Given the description of an element on the screen output the (x, y) to click on. 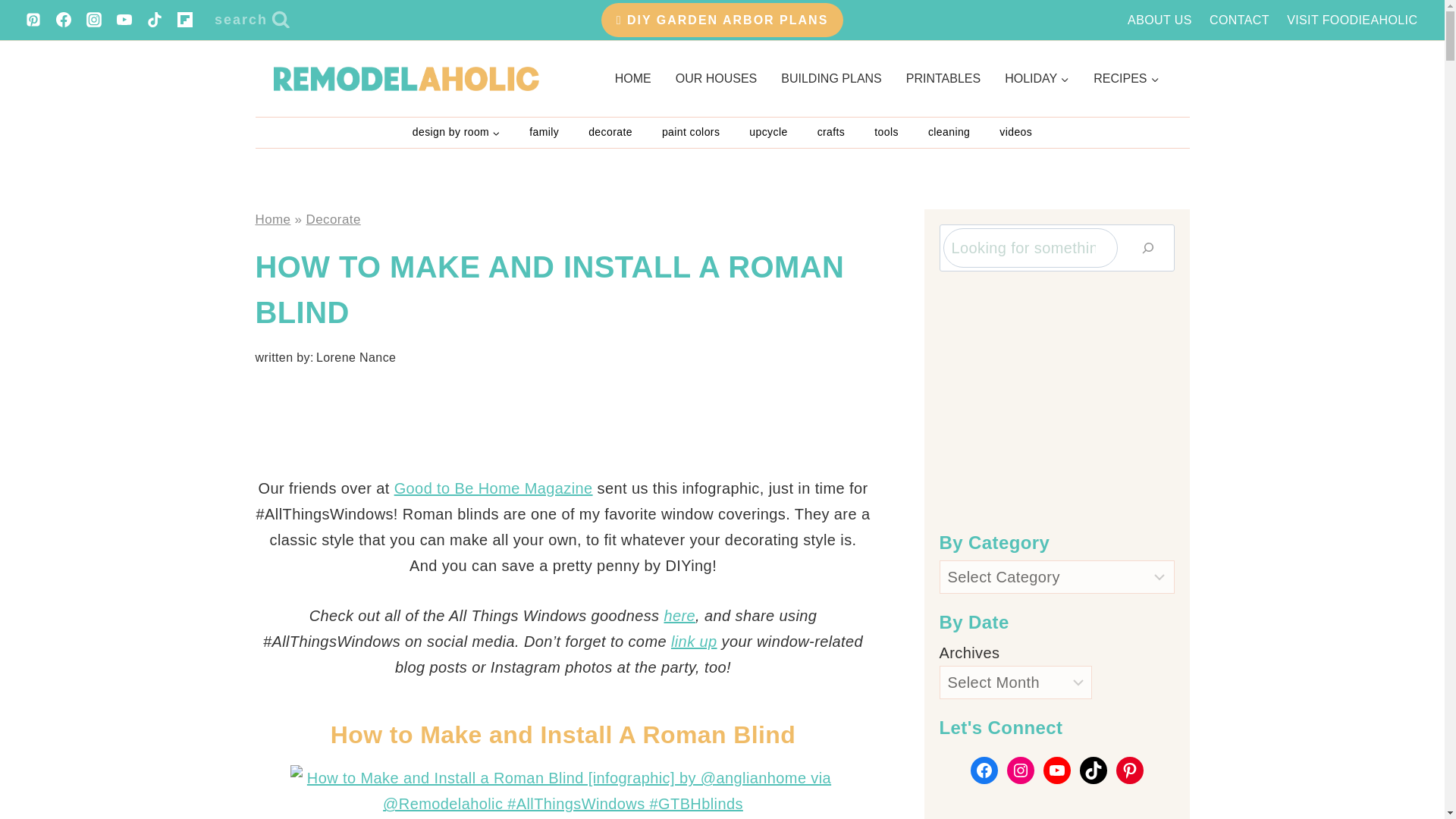
VISIT FOODIEAHOLIC (1352, 19)
HOME (632, 78)
ABOUT US (1160, 19)
HOLIDAY (1036, 78)
RECIPES (1125, 78)
BUILDING PLANS (830, 78)
OUR HOUSES (716, 78)
search (252, 19)
CONTACT (1238, 19)
PRINTABLES (942, 78)
